Given the description of an element on the screen output the (x, y) to click on. 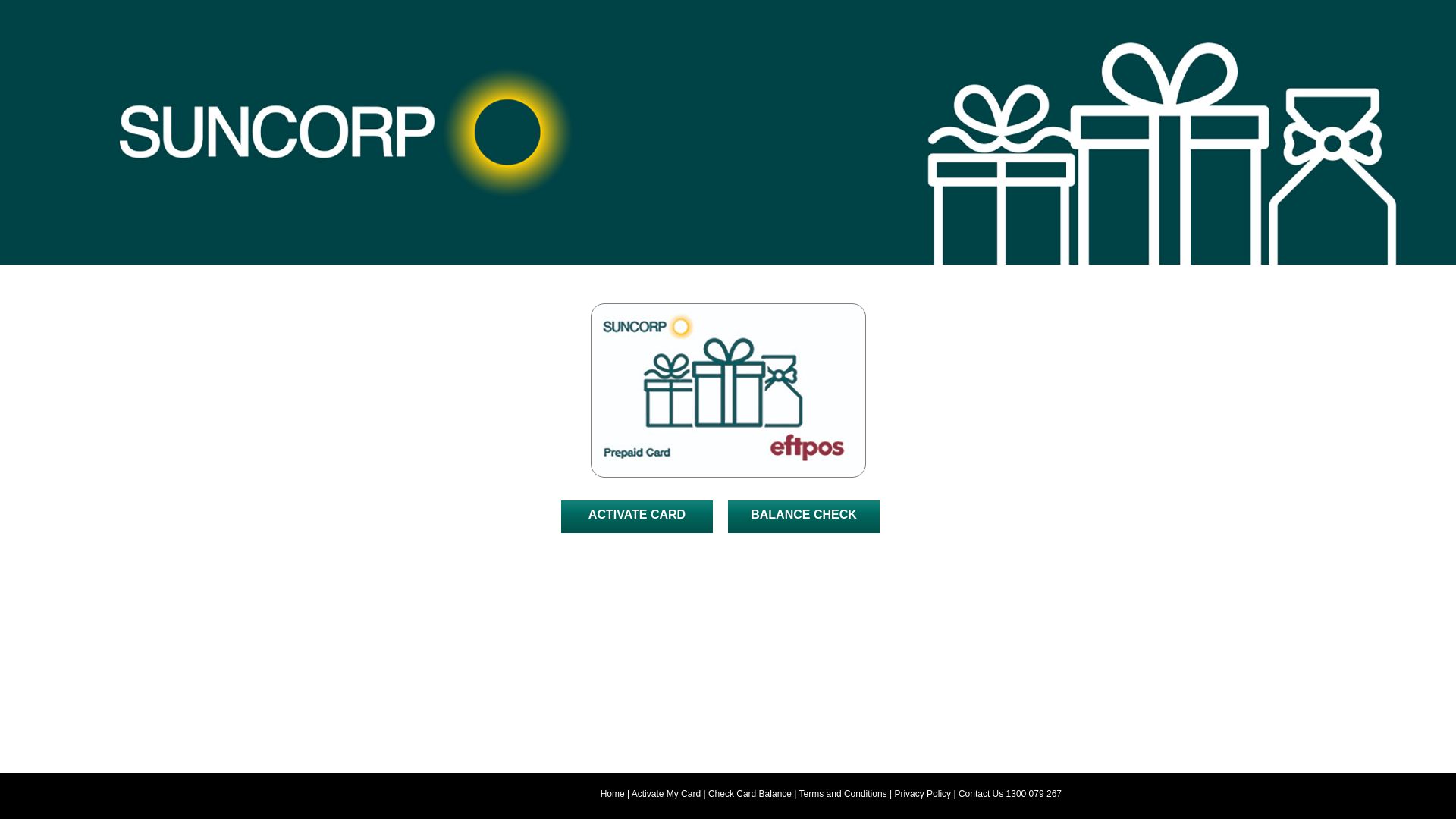
Check Card Balance Element type: text (749, 793)
Activate My Card Element type: text (665, 793)
Home Element type: text (612, 793)
Terms and Conditions Element type: text (843, 793)
Privacy Policy Element type: text (922, 793)
